Given the description of an element on the screen output the (x, y) to click on. 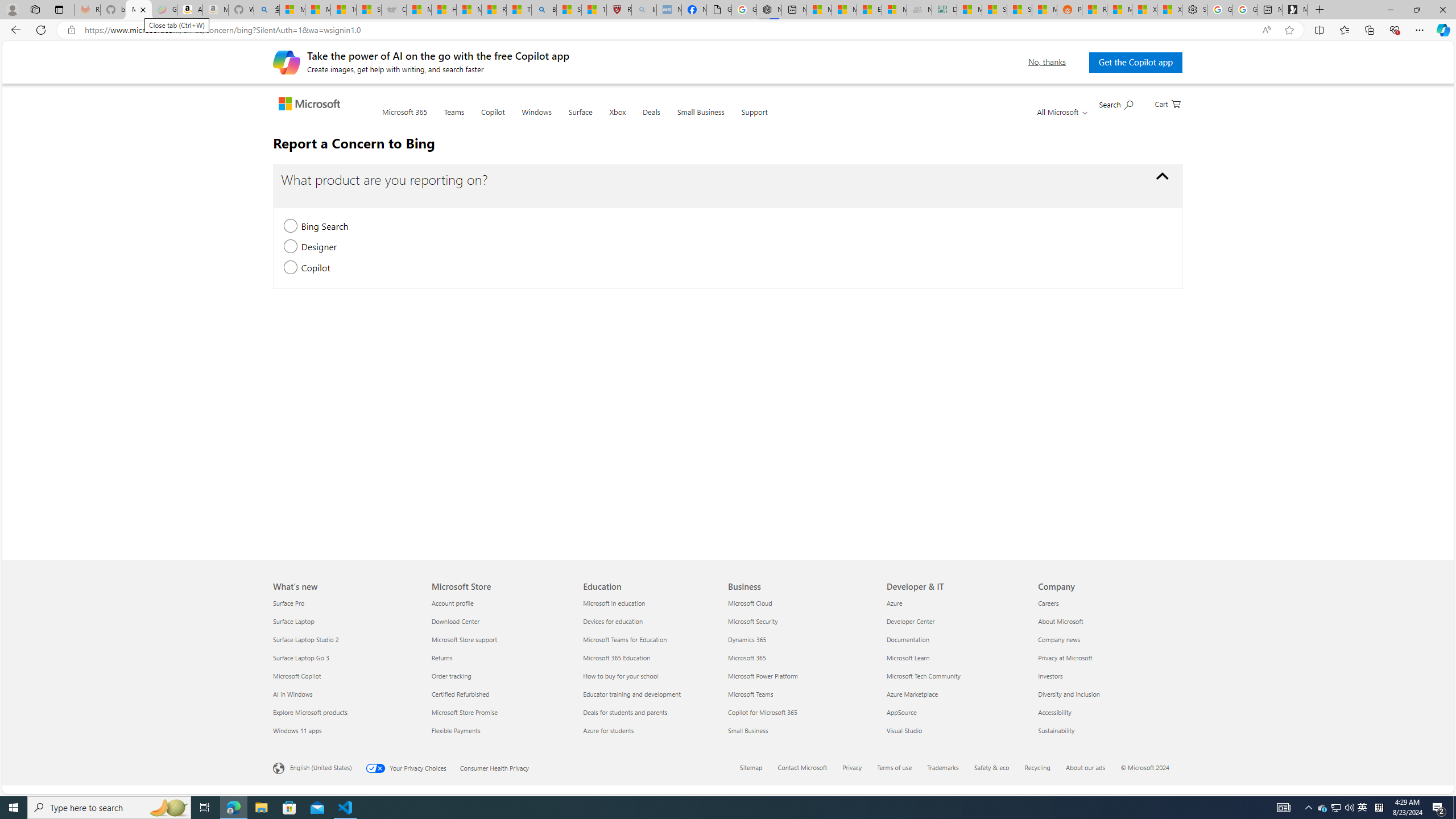
Bing Search, new section will be expanded (290, 226)
Sitemap (757, 768)
Azure (955, 602)
AppSource Developer & IT (901, 711)
Recipes - MSN (493, 9)
Deals (651, 118)
Your Privacy Choices Opt-Out Icon (377, 768)
Consumer Health Privacy (501, 766)
